Given the description of an element on the screen output the (x, y) to click on. 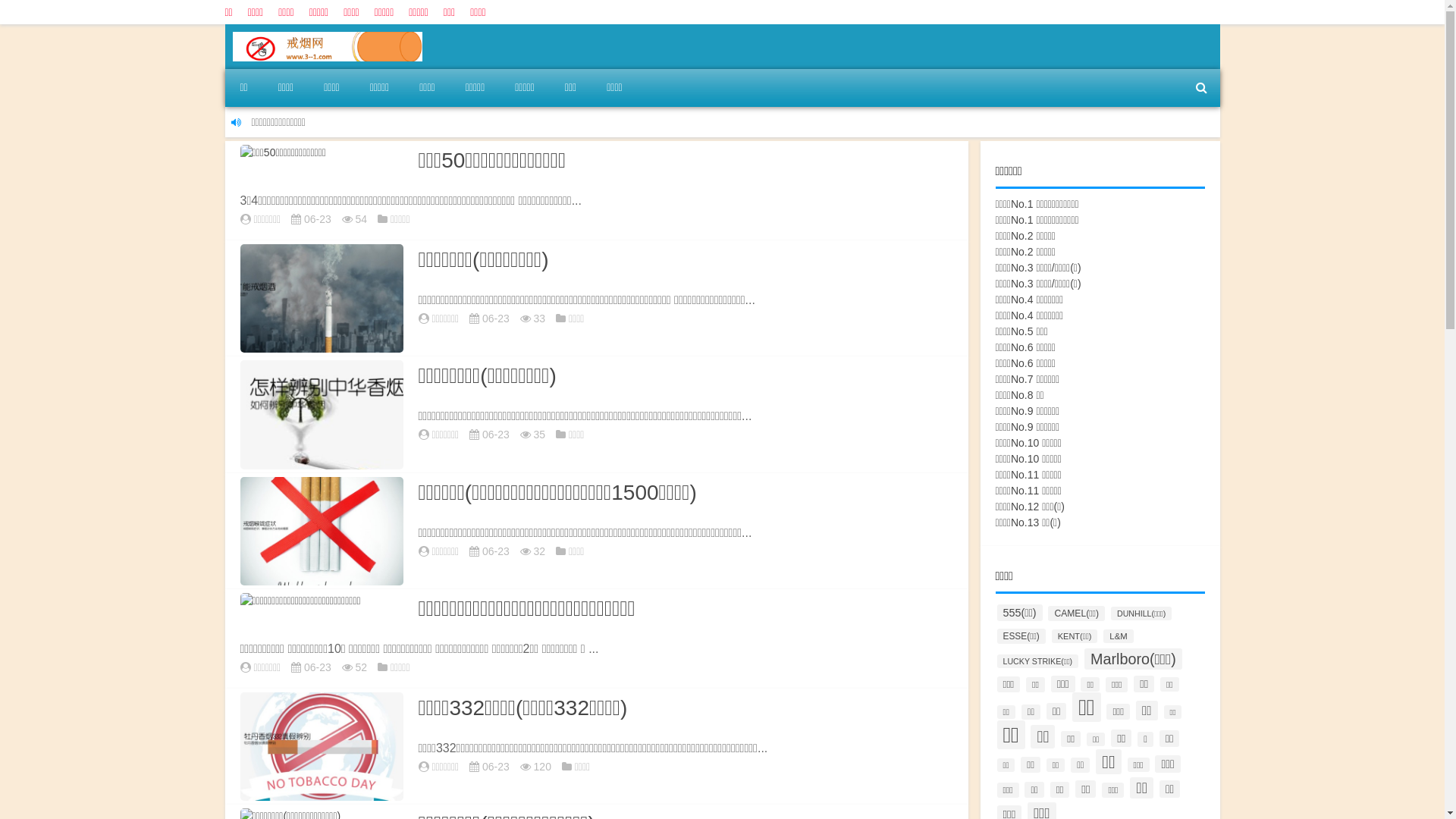
L&M Element type: text (1117, 636)
